Given the description of an element on the screen output the (x, y) to click on. 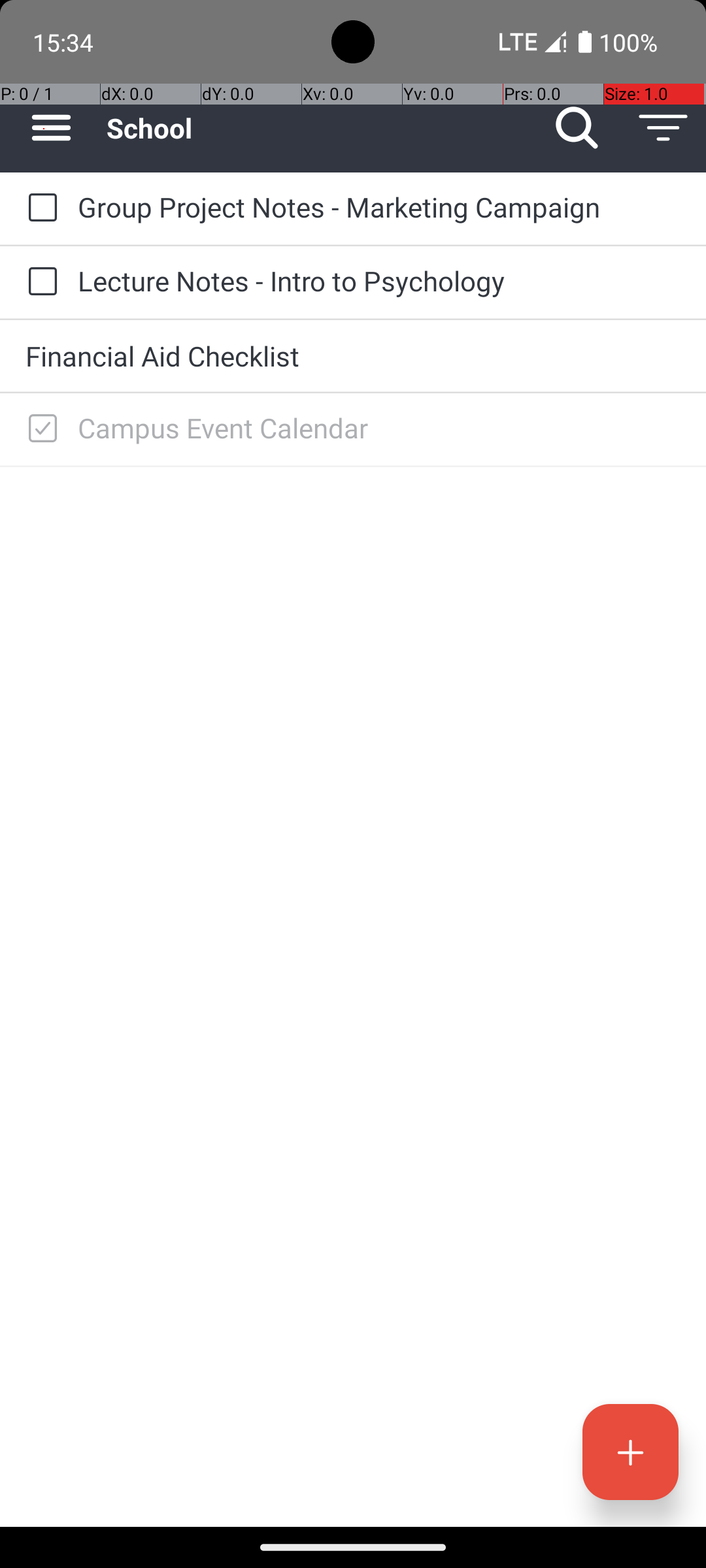
to-do: Group Project Notes - Marketing Campaign Element type: android.widget.CheckBox (38, 208)
Group Project Notes - Marketing Campaign Element type: android.widget.TextView (378, 206)
to-do: Lecture Notes - Intro to Psychology Element type: android.widget.CheckBox (38, 282)
Lecture Notes - Intro to Psychology Element type: android.widget.TextView (378, 280)
Financial Aid Checklist Element type: android.widget.TextView (352, 355)
to-do: Campus Event Calendar Element type: android.widget.CheckBox (38, 429)
Campus Event Calendar Element type: android.widget.TextView (378, 427)
